Given the description of an element on the screen output the (x, y) to click on. 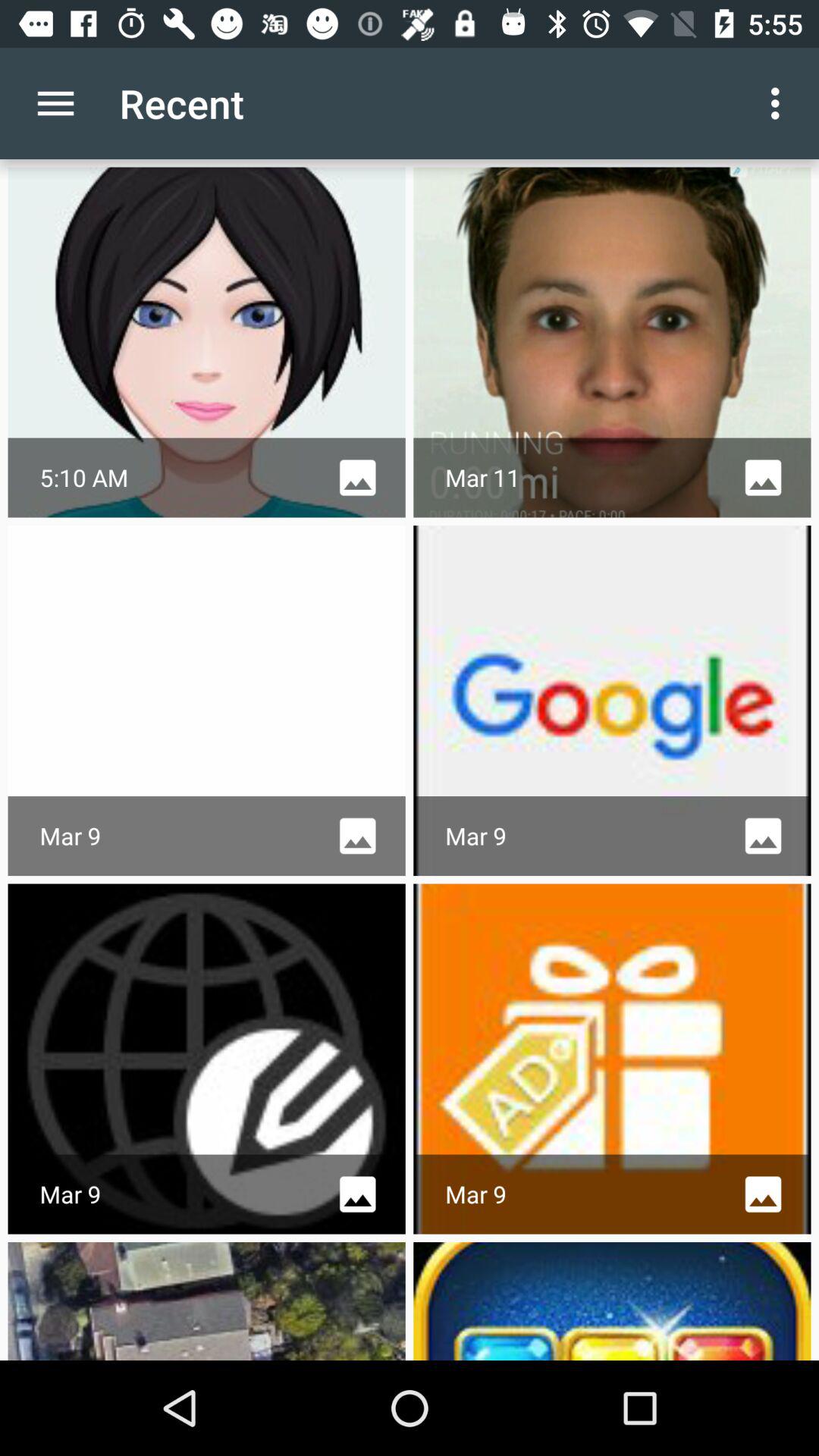
launch icon to the right of recent app (779, 103)
